Given the description of an element on the screen output the (x, y) to click on. 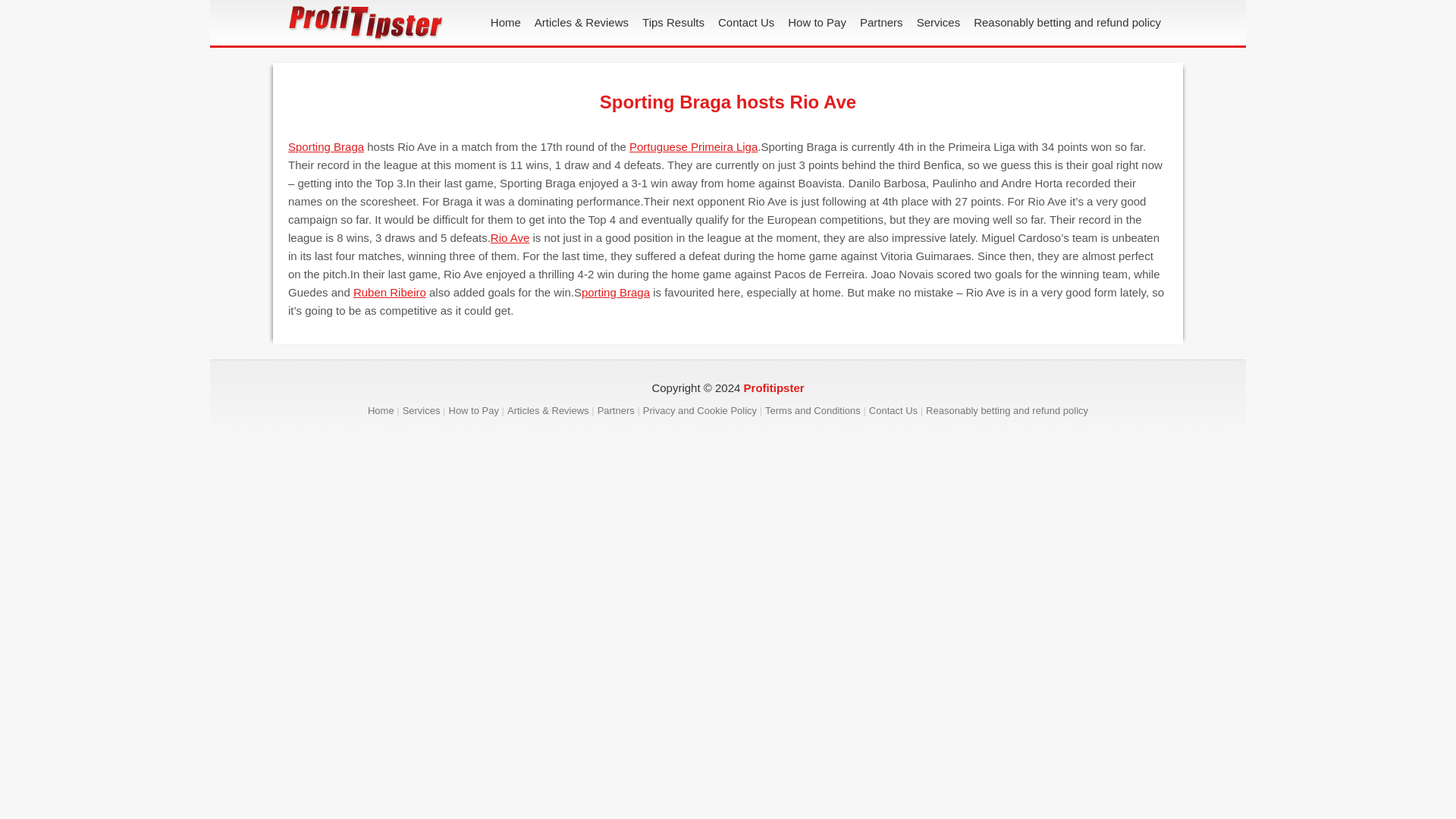
Rio Ave (509, 237)
How to Pay (477, 410)
Portuguese Primeira Liga (692, 146)
Terms and Conditions (817, 410)
Home (505, 22)
Sporting Braga (326, 146)
How to Pay (816, 22)
Contact Us (897, 410)
Services (939, 22)
Partners (619, 410)
